Given the description of an element on the screen output the (x, y) to click on. 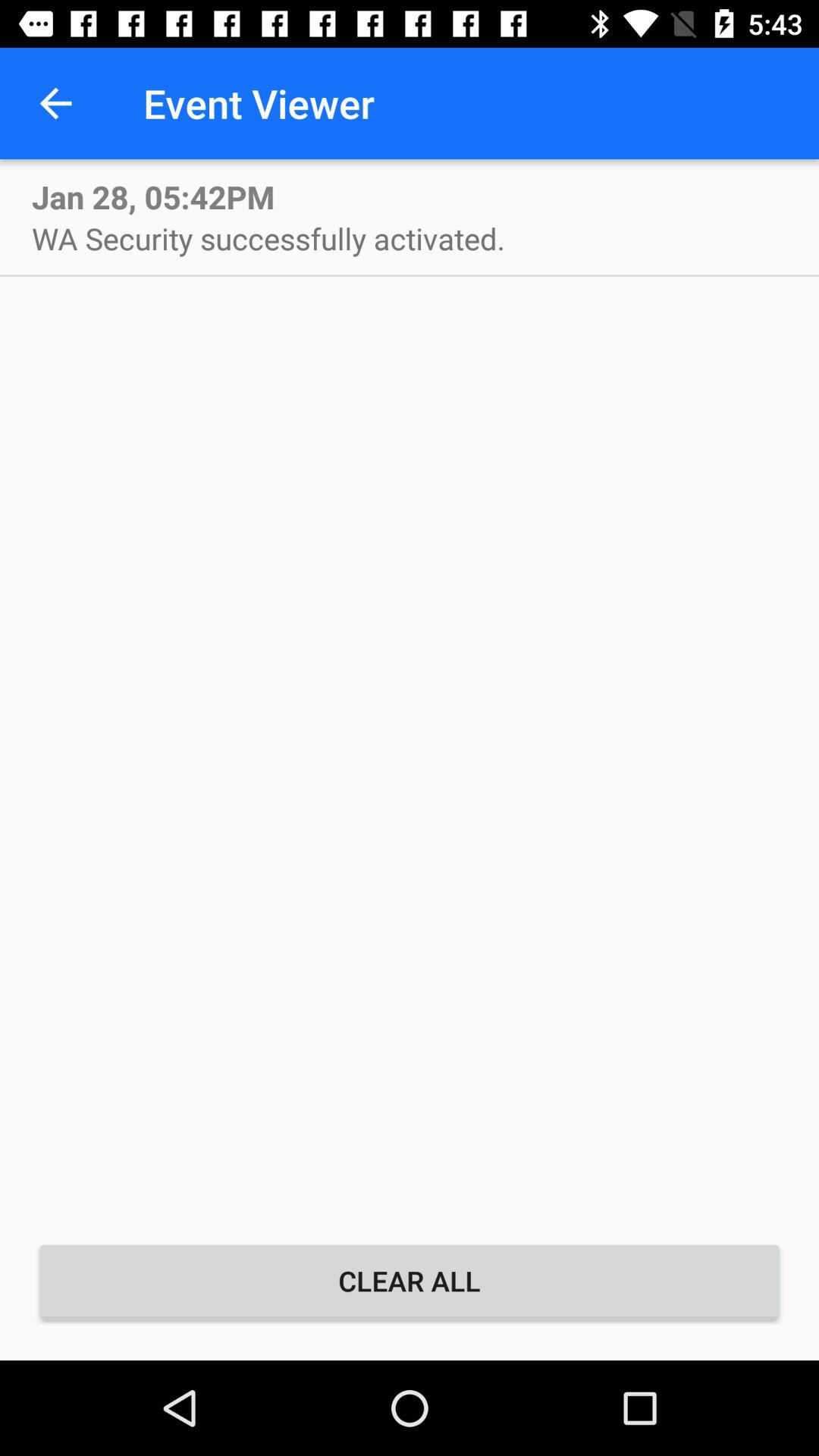
select item below wa security successfully item (409, 1280)
